Given the description of an element on the screen output the (x, y) to click on. 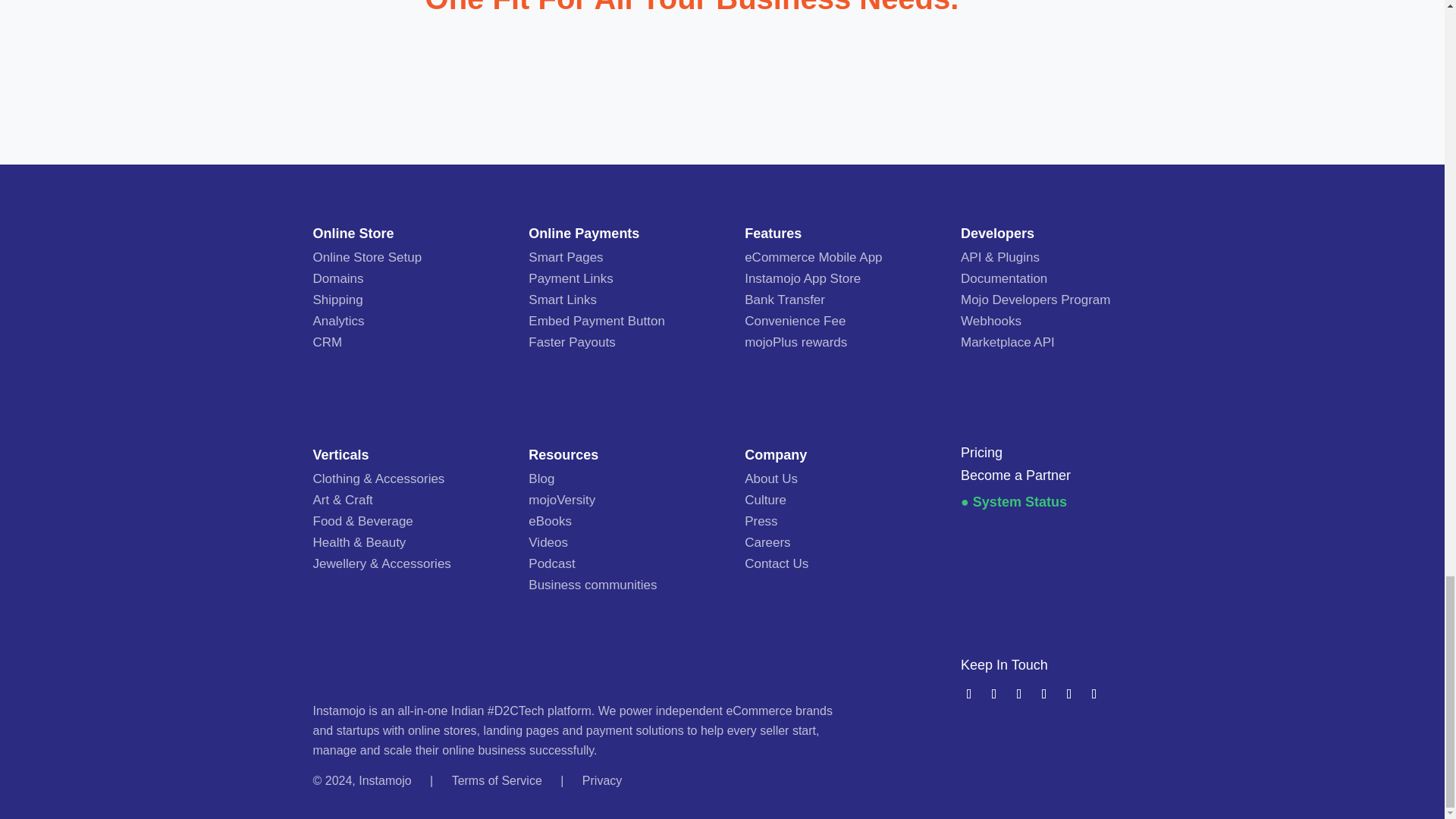
Follow on Twitter (972, 693)
Follow on Facebook (997, 693)
Follow on Youtube (1021, 693)
